Given the description of an element on the screen output the (x, y) to click on. 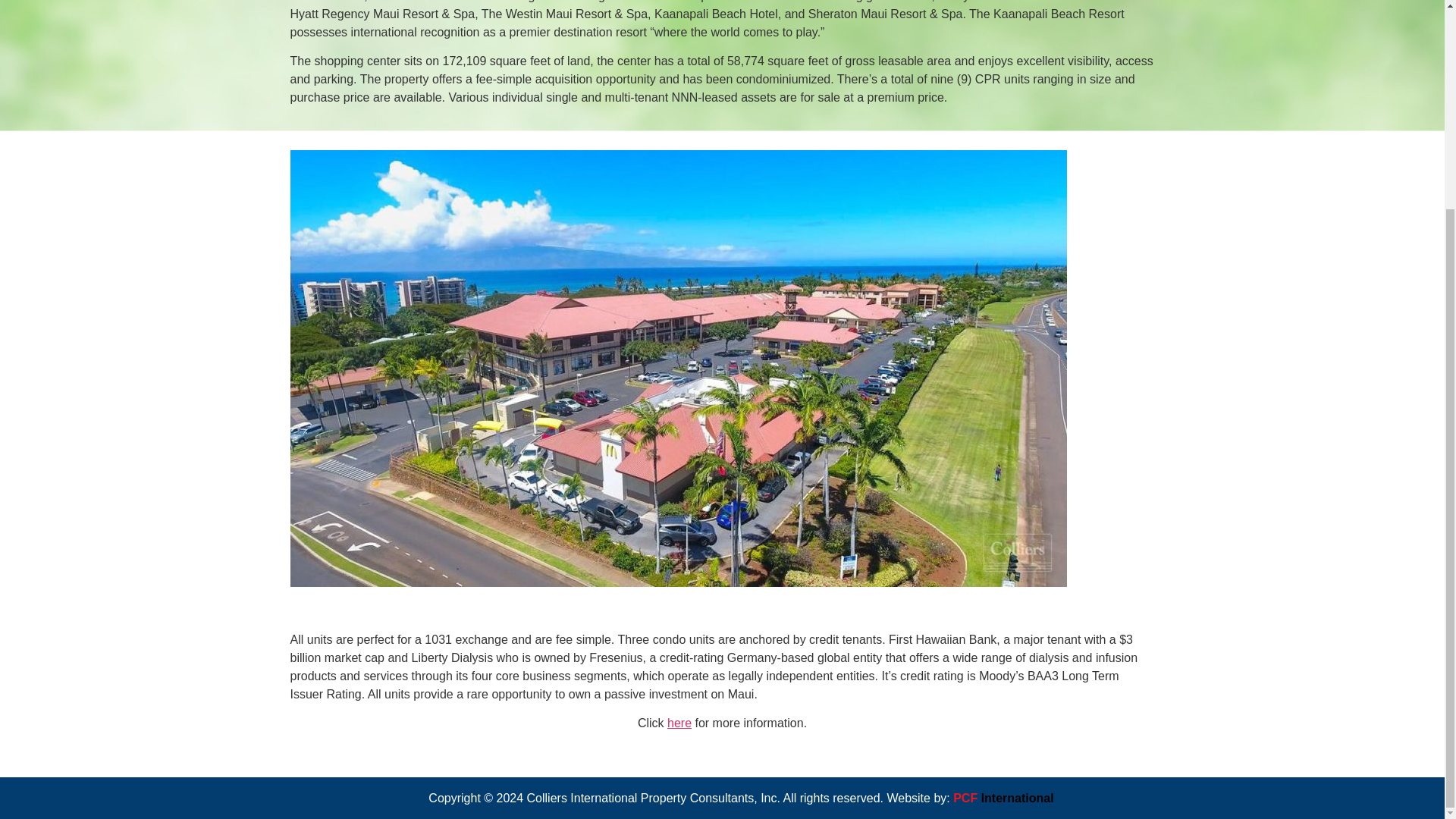
PCF International (1002, 526)
here (678, 722)
